Given the description of an element on the screen output the (x, y) to click on. 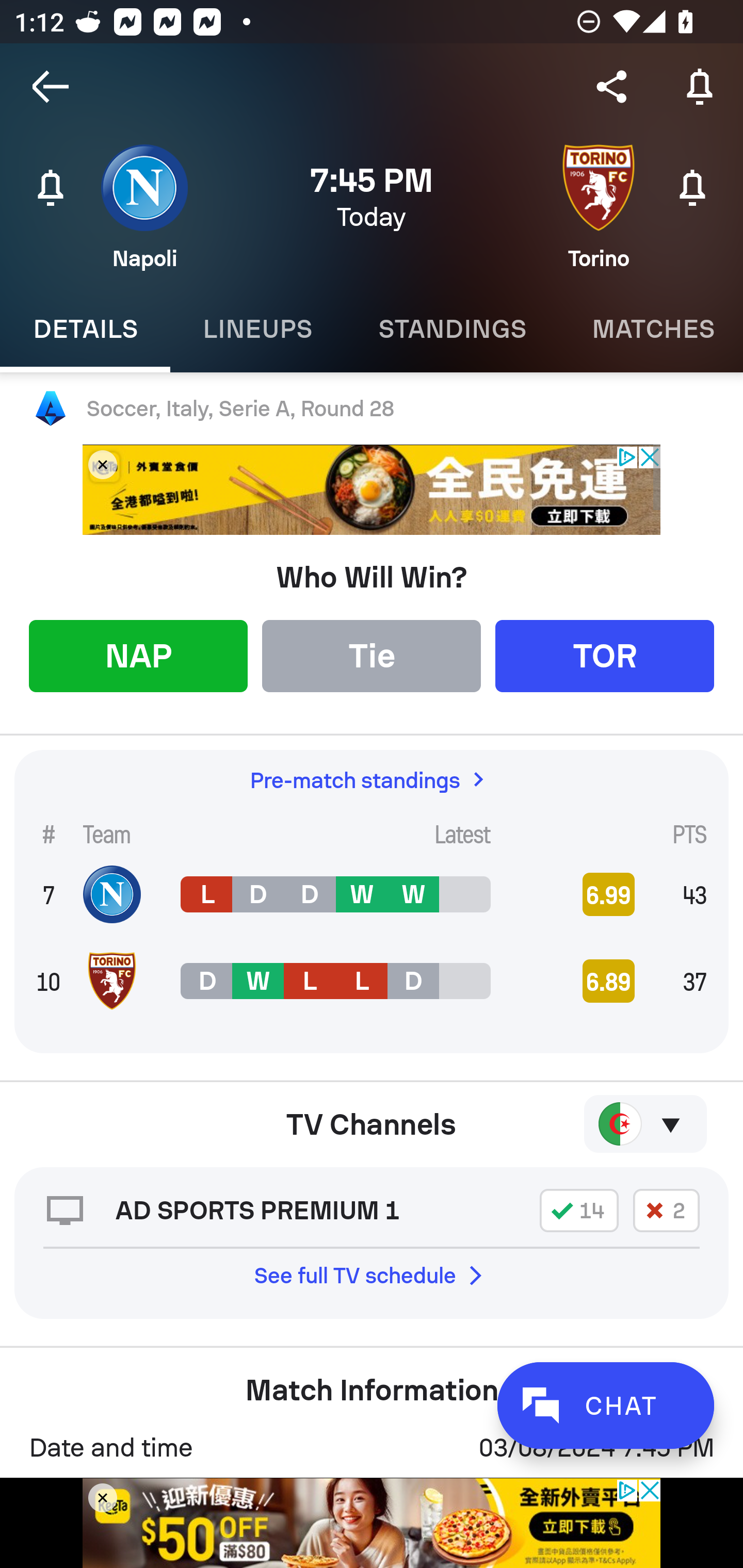
Navigate up (50, 86)
Lineups LINEUPS (257, 329)
Standings STANDINGS (451, 329)
Matches MATCHES (650, 329)
Soccer, Italy, Serie A, Round 28 (371, 409)
X7jla9k_1698402725513_0 (371, 489)
NAP (137, 655)
Tie (371, 655)
TOR (604, 655)
See full TV schedule (371, 1275)
CHAT (605, 1405)
o86KnEM_1693809238275_0 (371, 1522)
